Given the description of an element on the screen output the (x, y) to click on. 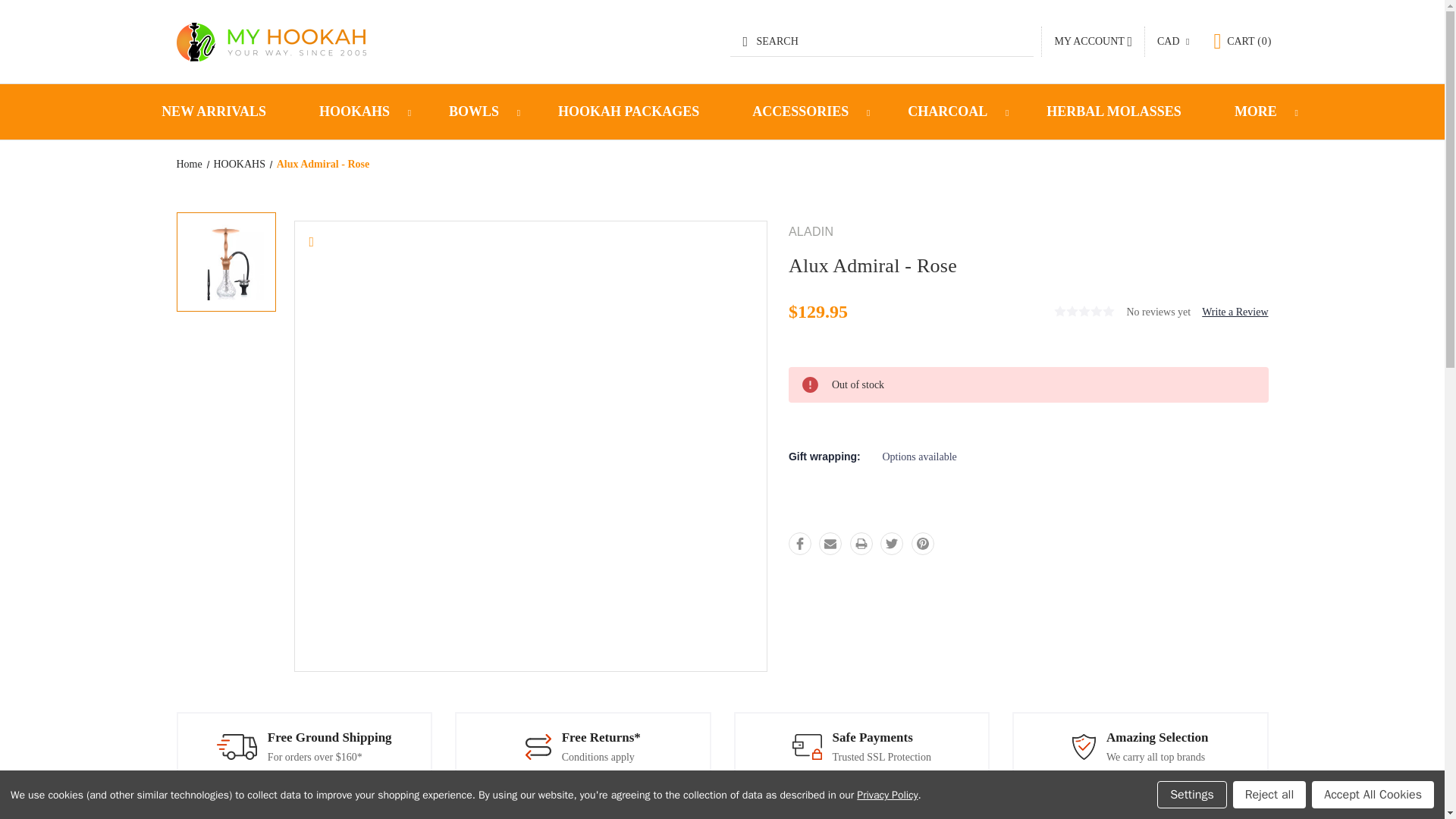
Amazing Selection (1083, 746)
MYHOOKAH (270, 41)
CART 0 (1241, 41)
Safe Payments (807, 746)
MY ACCOUNT (1093, 41)
NEW ARRIVALS (213, 111)
CAD (1172, 41)
Free Ground Shipping (236, 746)
HOOKAHS (357, 111)
SEARCH (881, 41)
